Given the description of an element on the screen output the (x, y) to click on. 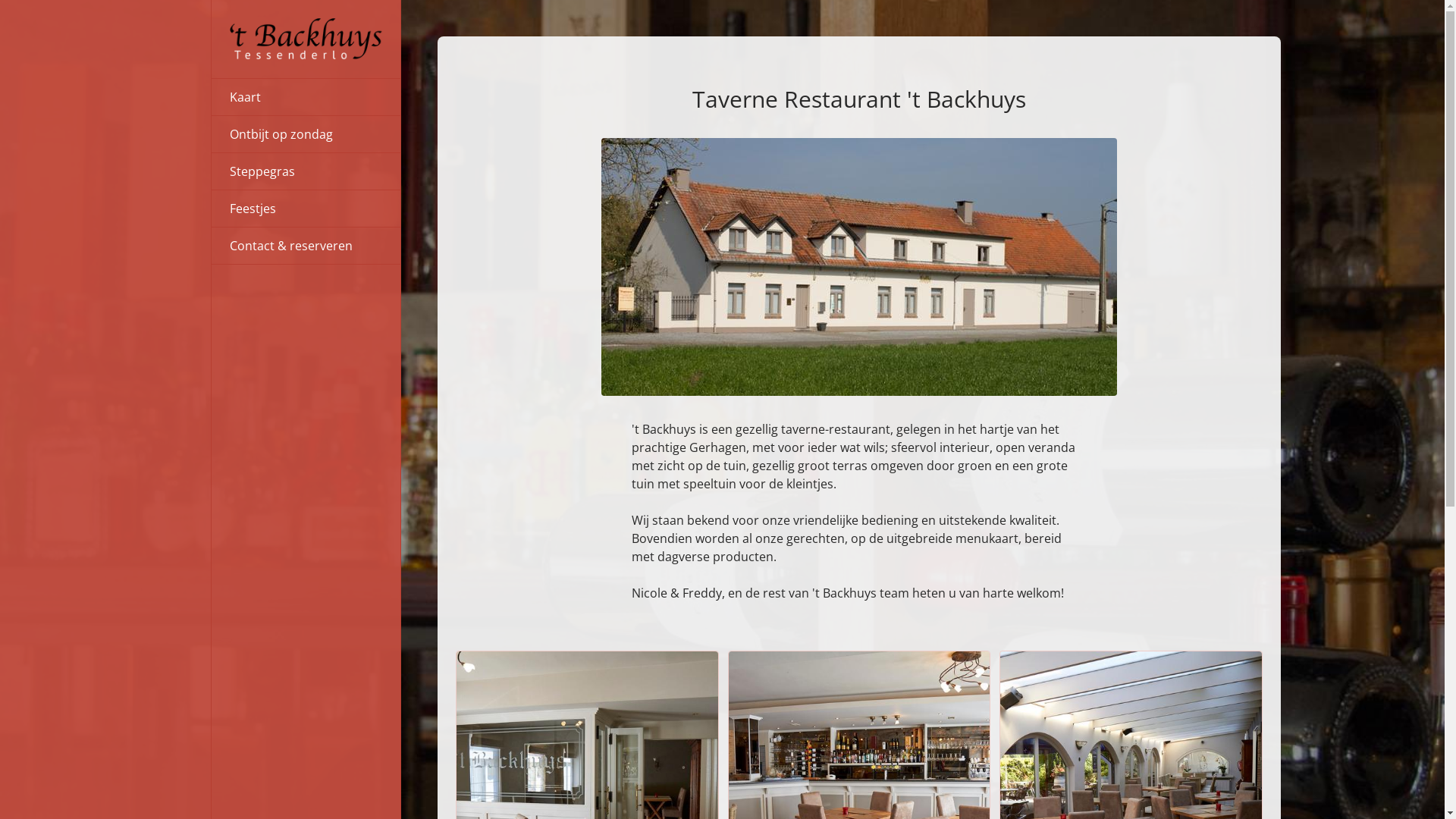
Kaart Element type: text (305, 96)
Ontbijt op zondag Element type: text (305, 134)
Feestjes Element type: text (305, 208)
Steppegras Element type: text (305, 171)
Contact & reserveren Element type: text (305, 245)
